Given the description of an element on the screen output the (x, y) to click on. 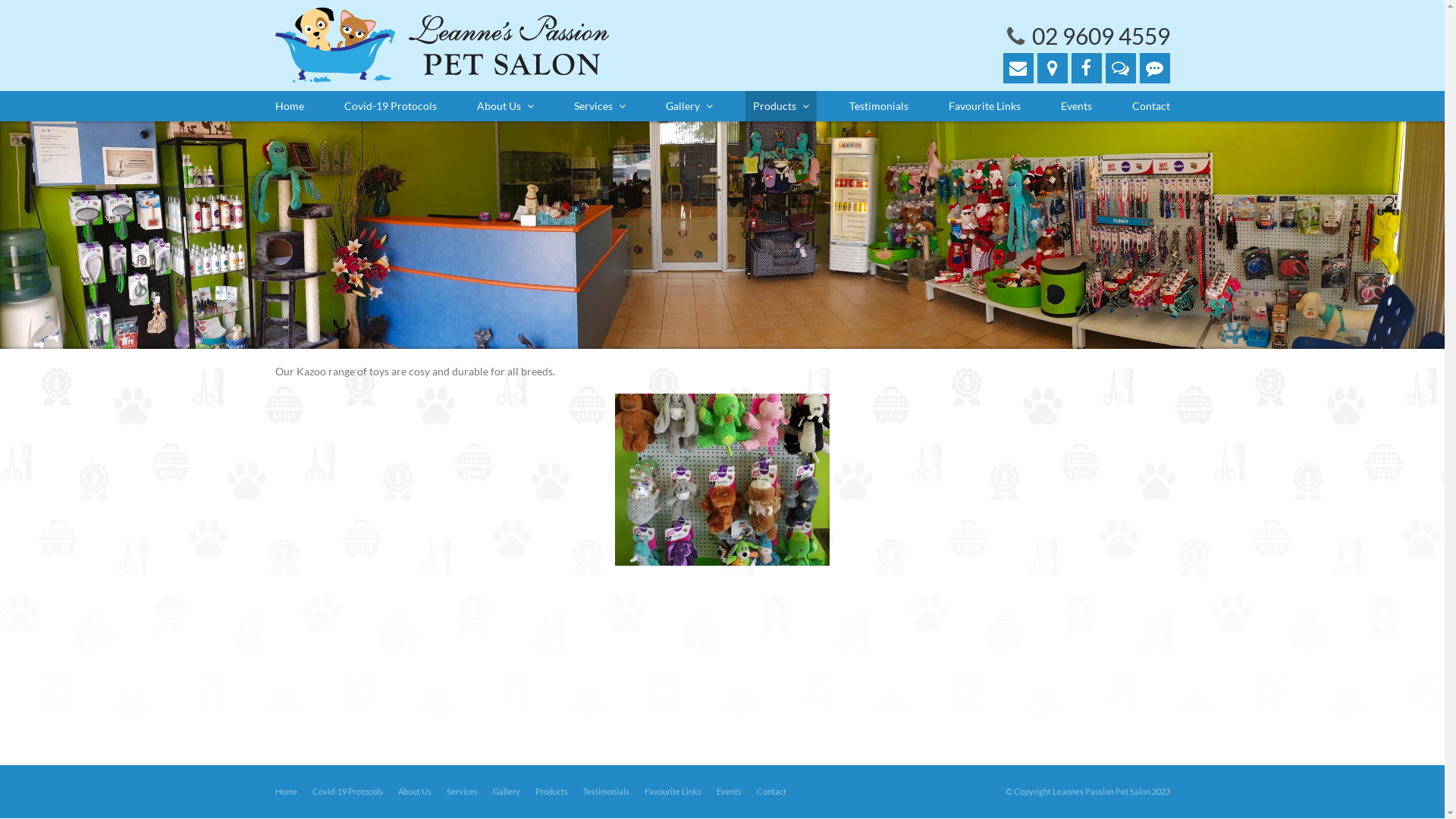
Contact Element type: text (1149, 106)
Products Element type: text (779, 106)
About Us Element type: text (413, 791)
Home Element type: text (288, 106)
Favourite Links Element type: text (673, 791)
Events Element type: text (728, 791)
Gallery Element type: text (689, 106)
Covid-19 Protocols Element type: text (347, 791)
Home Element type: text (285, 791)
Events Element type: text (1075, 106)
Contact Element type: text (771, 791)
Testimonials Element type: text (605, 791)
Testimonials Element type: text (878, 106)
Covid-19 Protocols Element type: text (390, 106)
Services Element type: text (598, 106)
Services Element type: text (461, 791)
Favourite Links Element type: text (983, 106)
Gallery Element type: text (506, 791)
About Us Element type: text (504, 106)
Products Element type: text (551, 791)
